Given the description of an element on the screen output the (x, y) to click on. 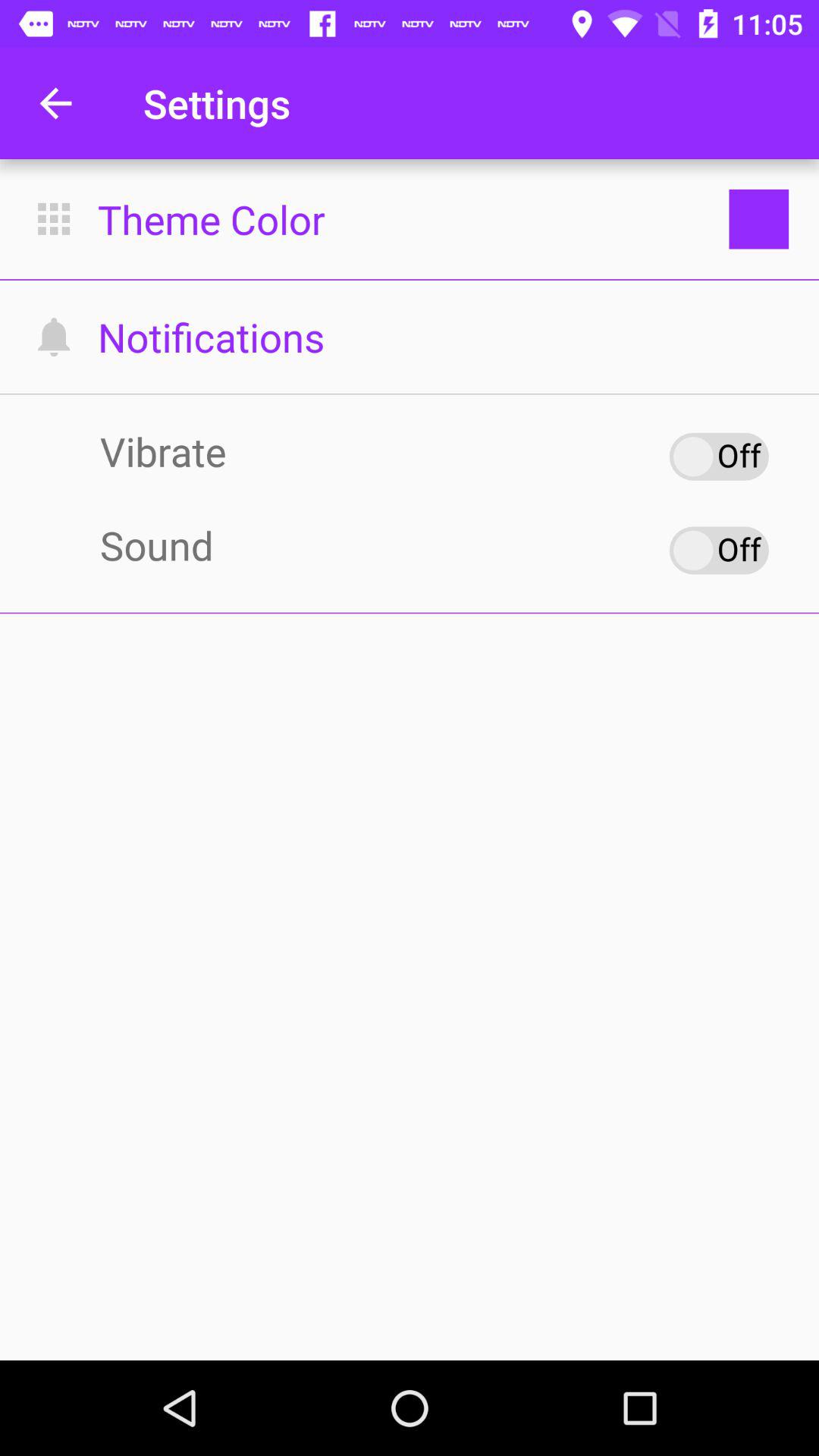
mute or unmute notifications (718, 550)
